Given the description of an element on the screen output the (x, y) to click on. 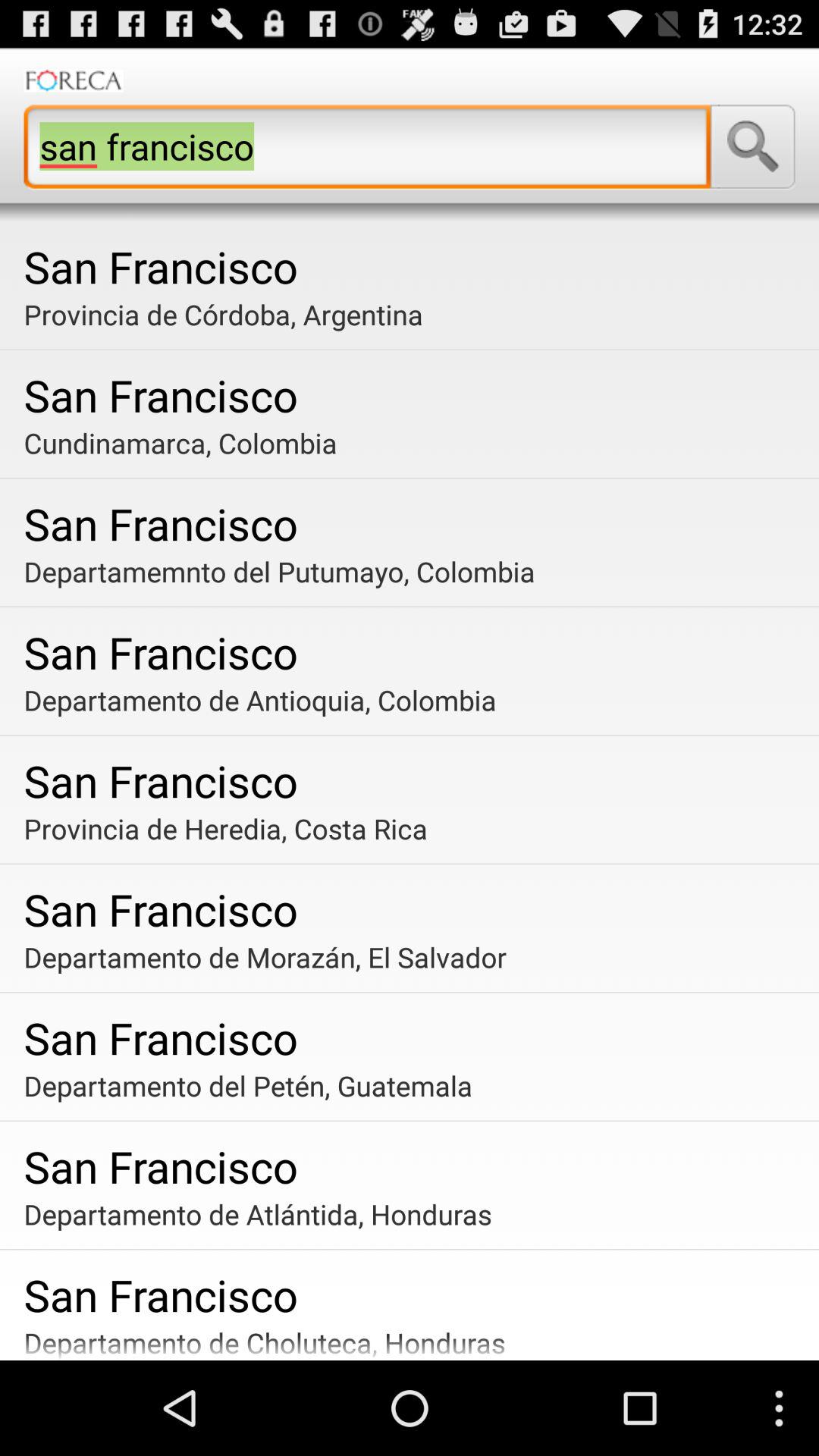
select app above the san francisco icon (415, 442)
